Given the description of an element on the screen output the (x, y) to click on. 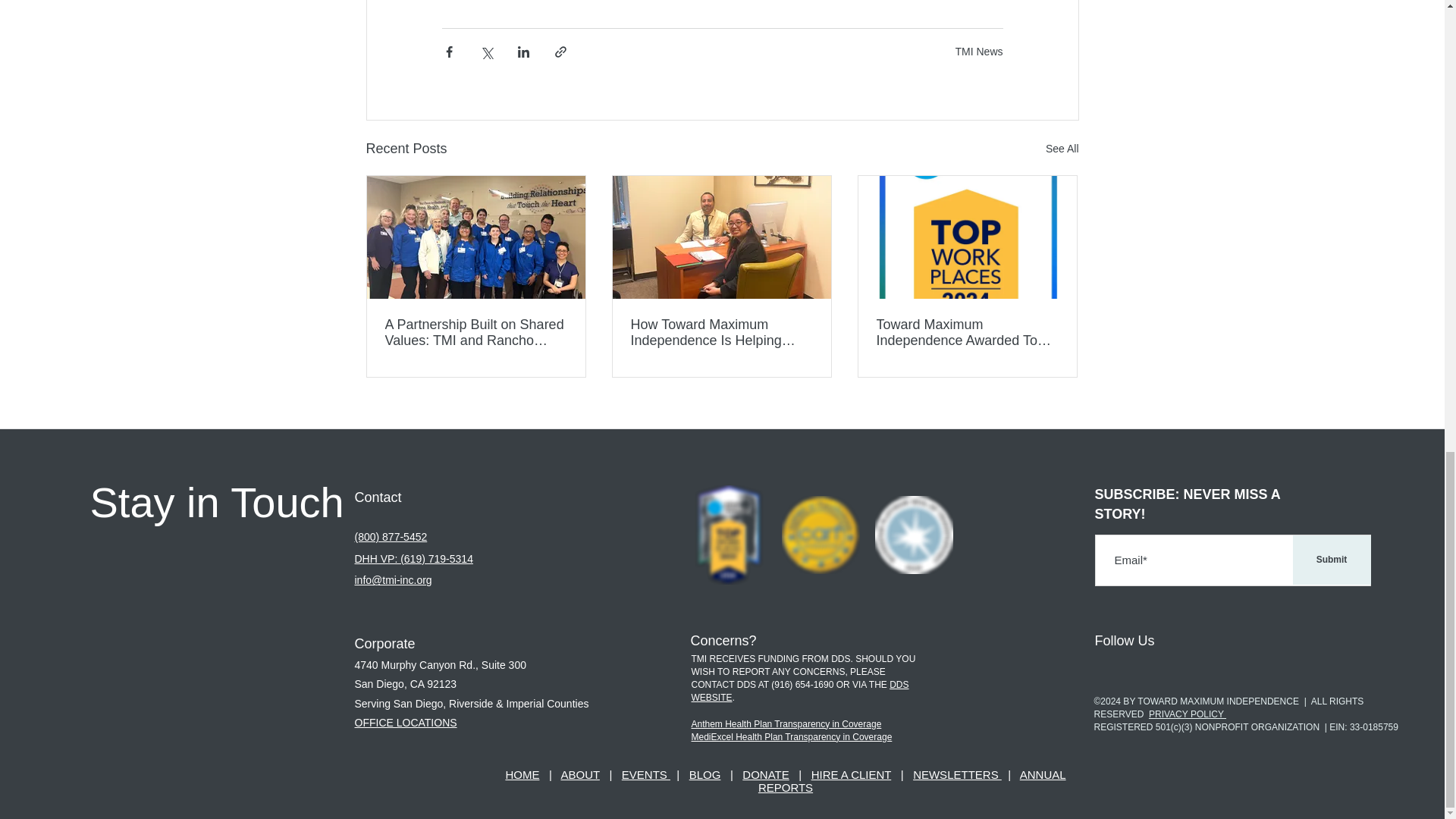
72985927007-topworkplaces.jpg.webp (728, 534)
